Given the description of an element on the screen output the (x, y) to click on. 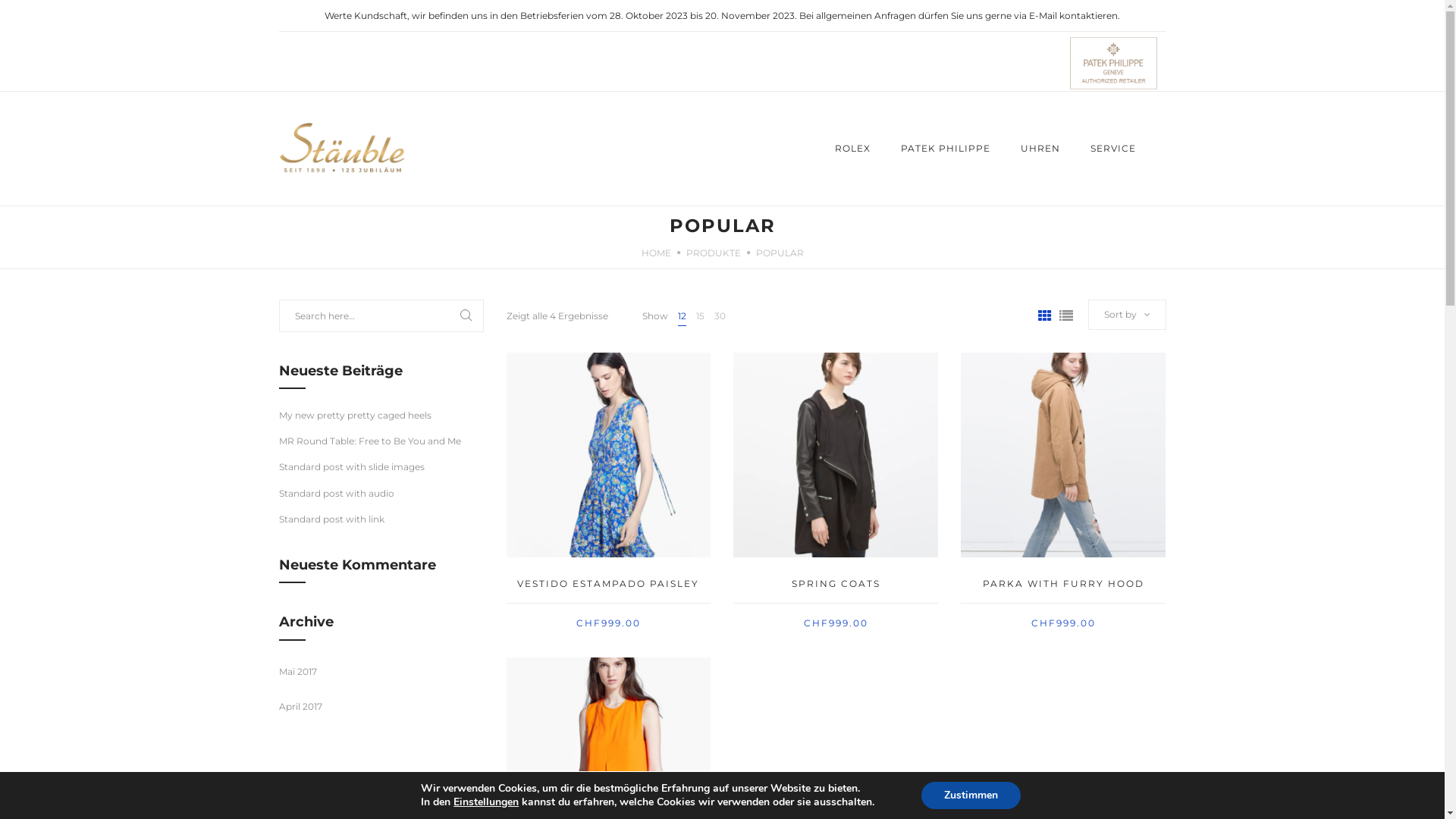
SPRING COATS Element type: text (835, 583)
Grid view Element type: hover (1044, 316)
   Element type: text (281, 42)
15 Element type: text (700, 315)
Search for: Element type: hover (381, 315)
UHREN Element type: text (1040, 148)
My new pretty pretty caged heels Element type: text (355, 414)
PRODUKTE Element type: text (712, 252)
HOME Element type: text (656, 252)
Standard post with slide images Element type: text (351, 466)
VESTIDO ESTAMPADO PAISLEY Element type: text (608, 583)
Zustimmen Element type: text (970, 795)
SERVICE Element type: text (1112, 148)
12 Element type: text (681, 315)
30 Element type: text (719, 315)
Standard post with audio Element type: text (336, 492)
April 2017 Element type: text (300, 706)
PARKA WITH FURRY HOOD Element type: text (1063, 583)
List view Element type: hover (1065, 316)
ROLEX Element type: text (851, 148)
Standard post with link Element type: text (331, 518)
Mai 2017 Element type: text (297, 671)
MR Round Table: Free to Be You and Me Element type: text (370, 440)
PATEK PHILIPPE Element type: text (945, 148)
